Given the description of an element on the screen output the (x, y) to click on. 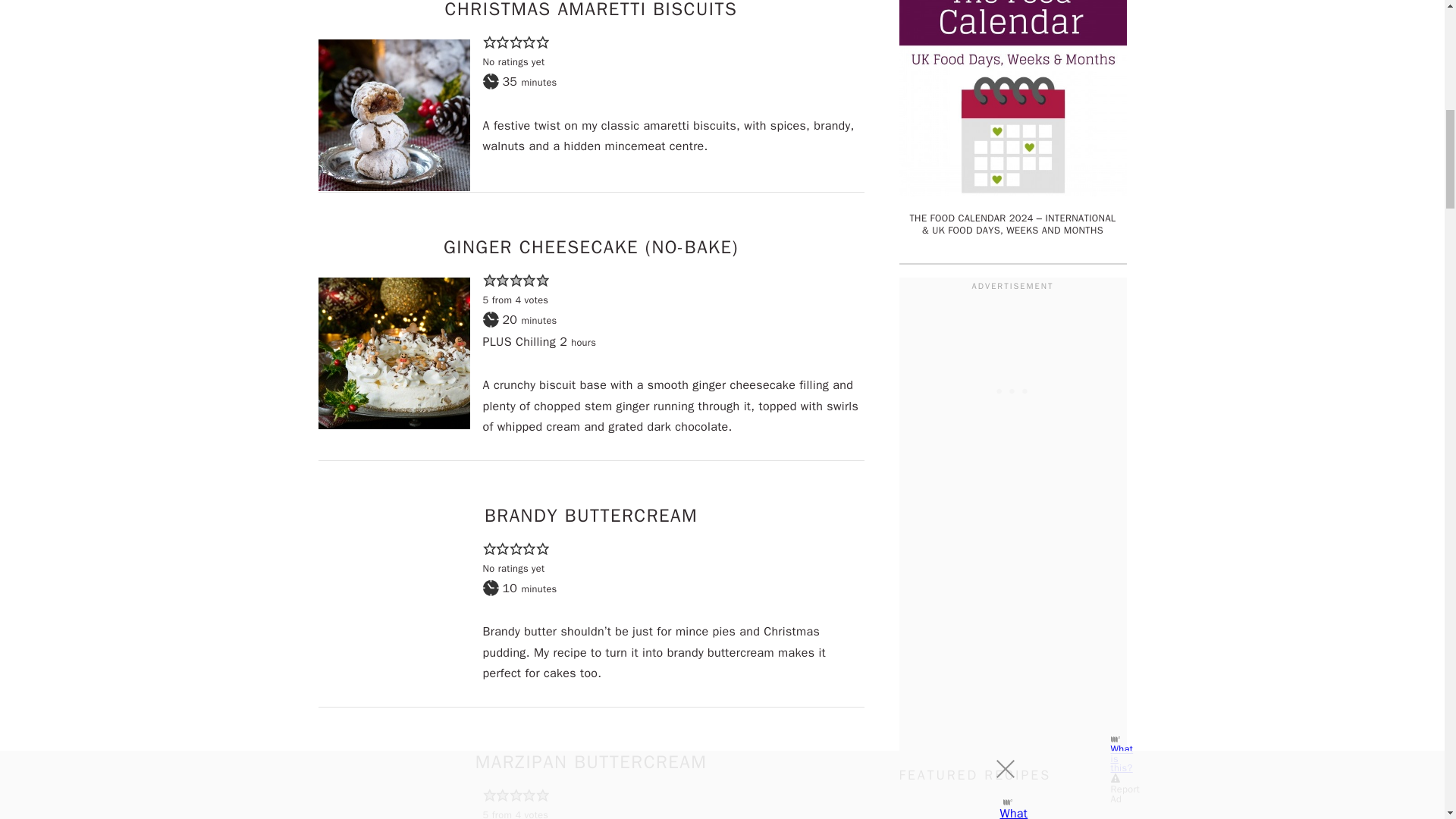
3rd party ad content (1012, 390)
